Given the description of an element on the screen output the (x, y) to click on. 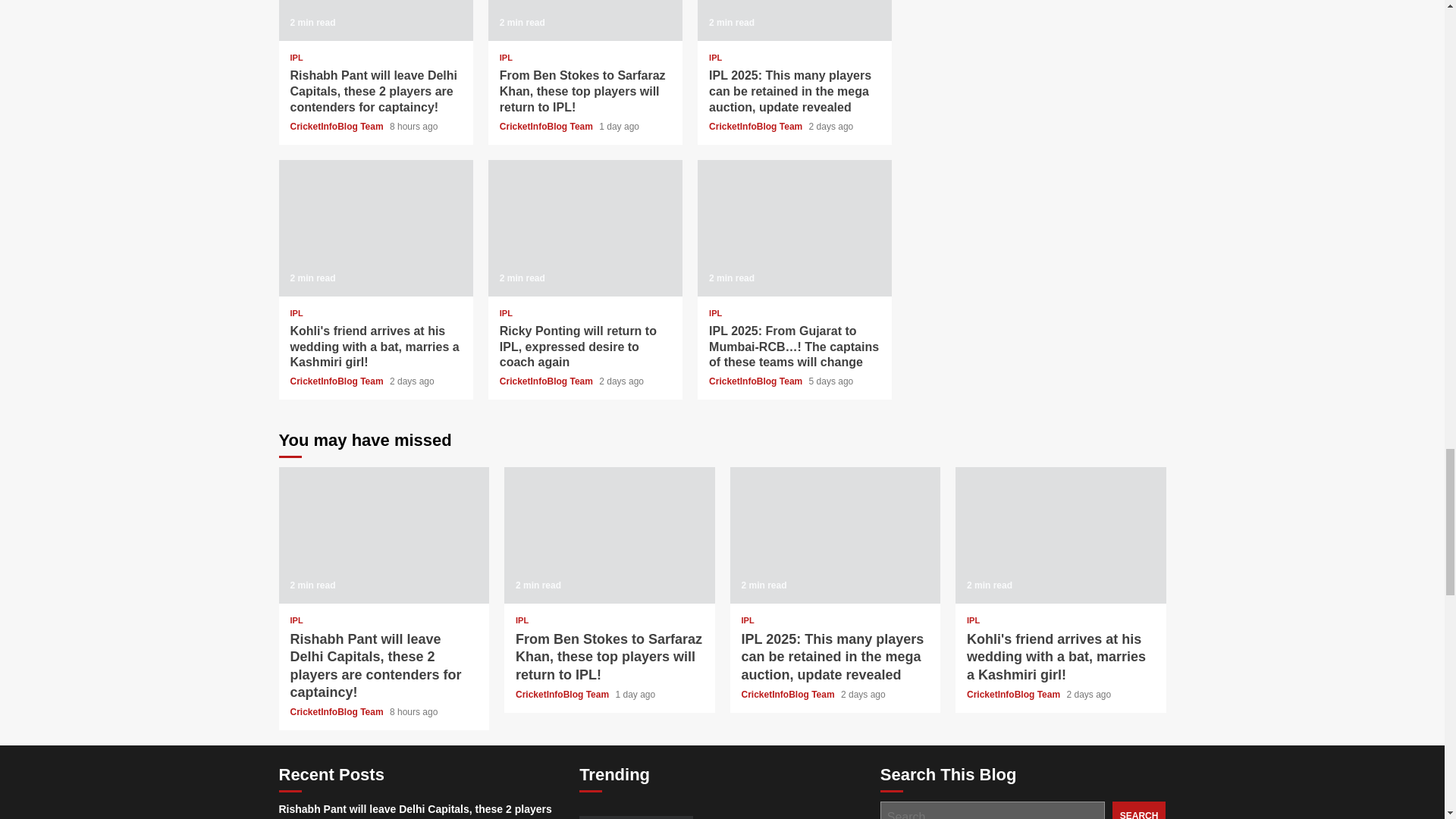
IPL (505, 58)
CricketInfoBlog Team (337, 126)
IPL (295, 58)
CricketInfoBlog Team (757, 126)
